Given the description of an element on the screen output the (x, y) to click on. 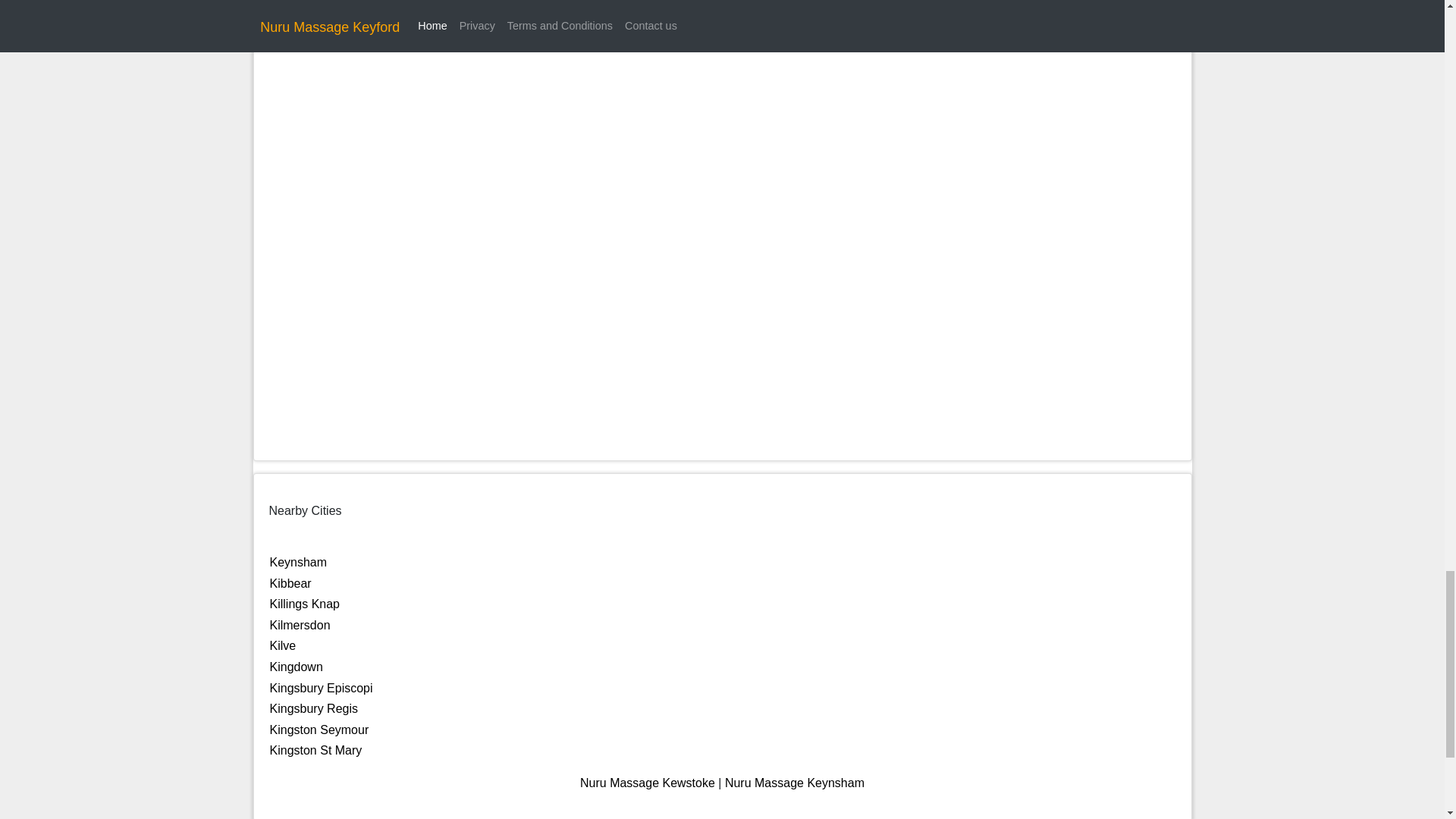
Kingston St Mary (315, 749)
Nuru Massage Keynsham (794, 782)
Kibbear (290, 583)
Keynsham (298, 562)
Nuru Massage Kewstoke (646, 782)
Killings Knap (304, 603)
Kilmersdon (299, 625)
Kingdown (296, 666)
Kingsbury Episcopi (320, 687)
Kilve (283, 645)
